Given the description of an element on the screen output the (x, y) to click on. 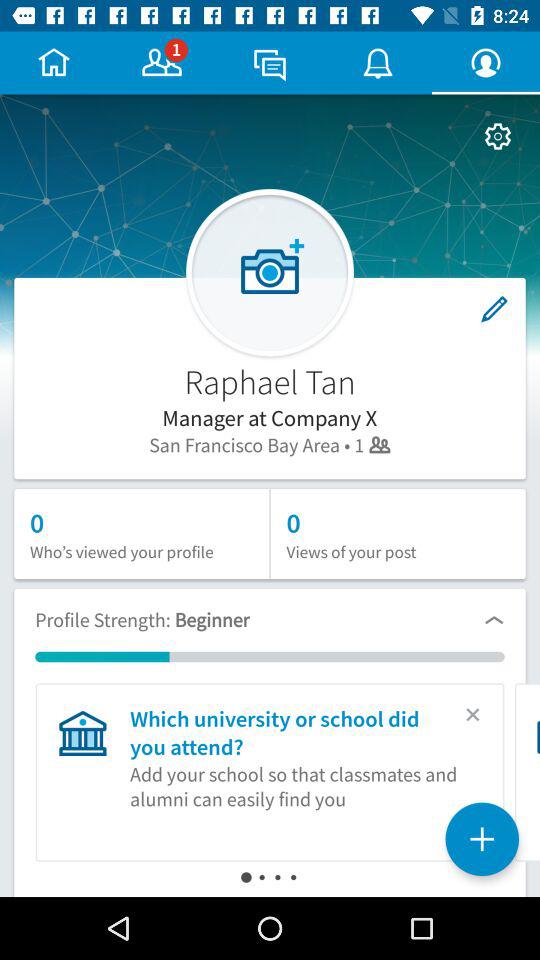
select the second option (161, 62)
